Given the description of an element on the screen output the (x, y) to click on. 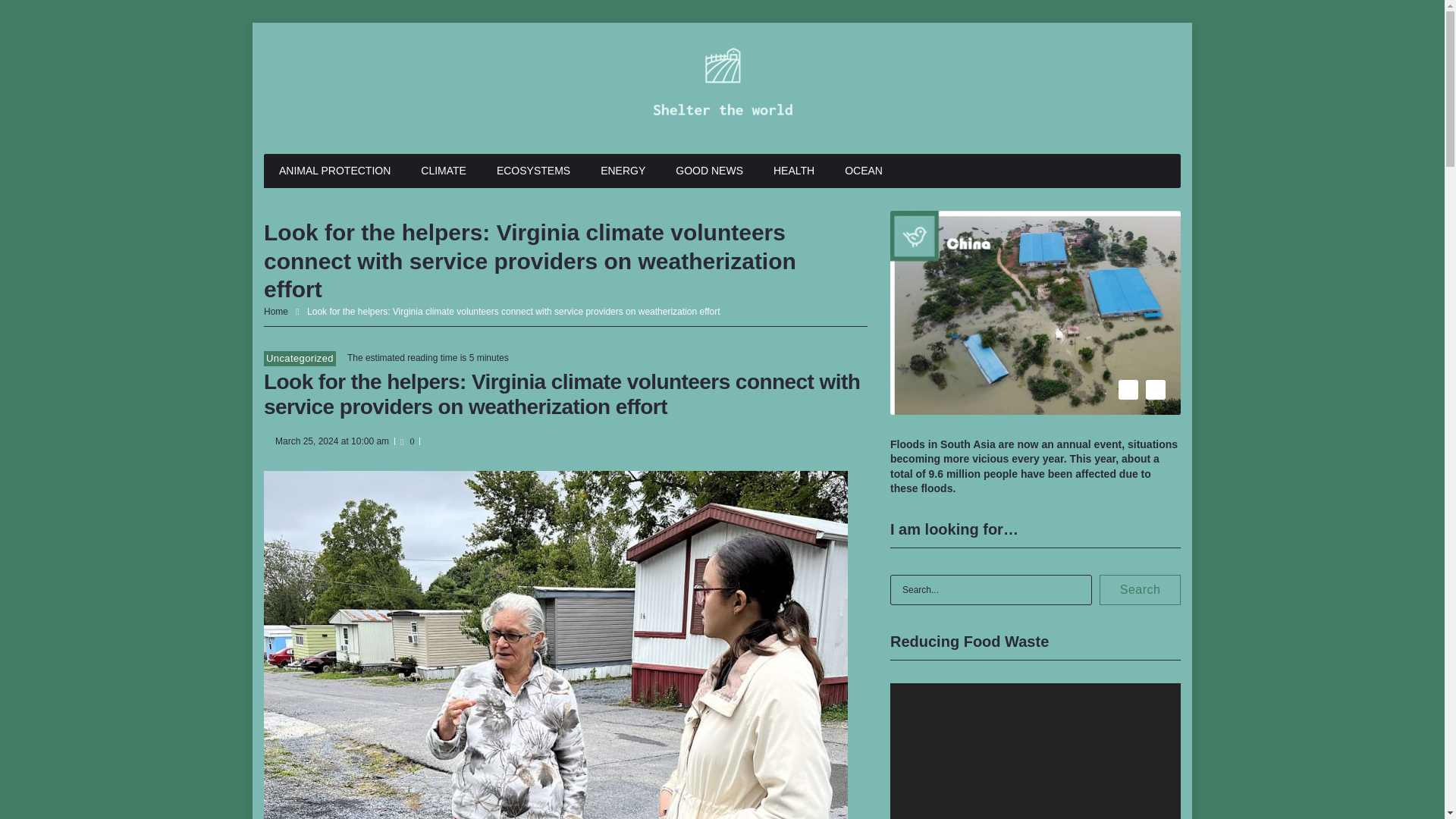
March 25, 2024 at 10:00 am (331, 440)
ENERGY (623, 170)
Home (275, 311)
Uncategorized (299, 358)
HEALTH (793, 170)
ECOSYSTEMS (533, 170)
GOOD NEWS (709, 170)
CLIMATE (443, 170)
Search for: (990, 589)
OCEAN (863, 170)
Home (275, 311)
ANIMAL PROTECTION (334, 170)
